Given the description of an element on the screen output the (x, y) to click on. 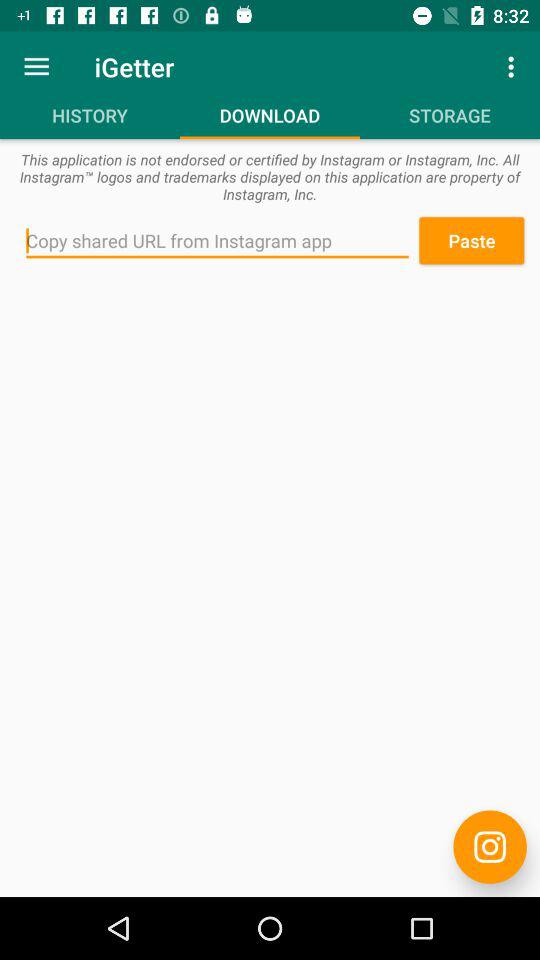
turn on the icon next to igetter icon (36, 66)
